Given the description of an element on the screen output the (x, y) to click on. 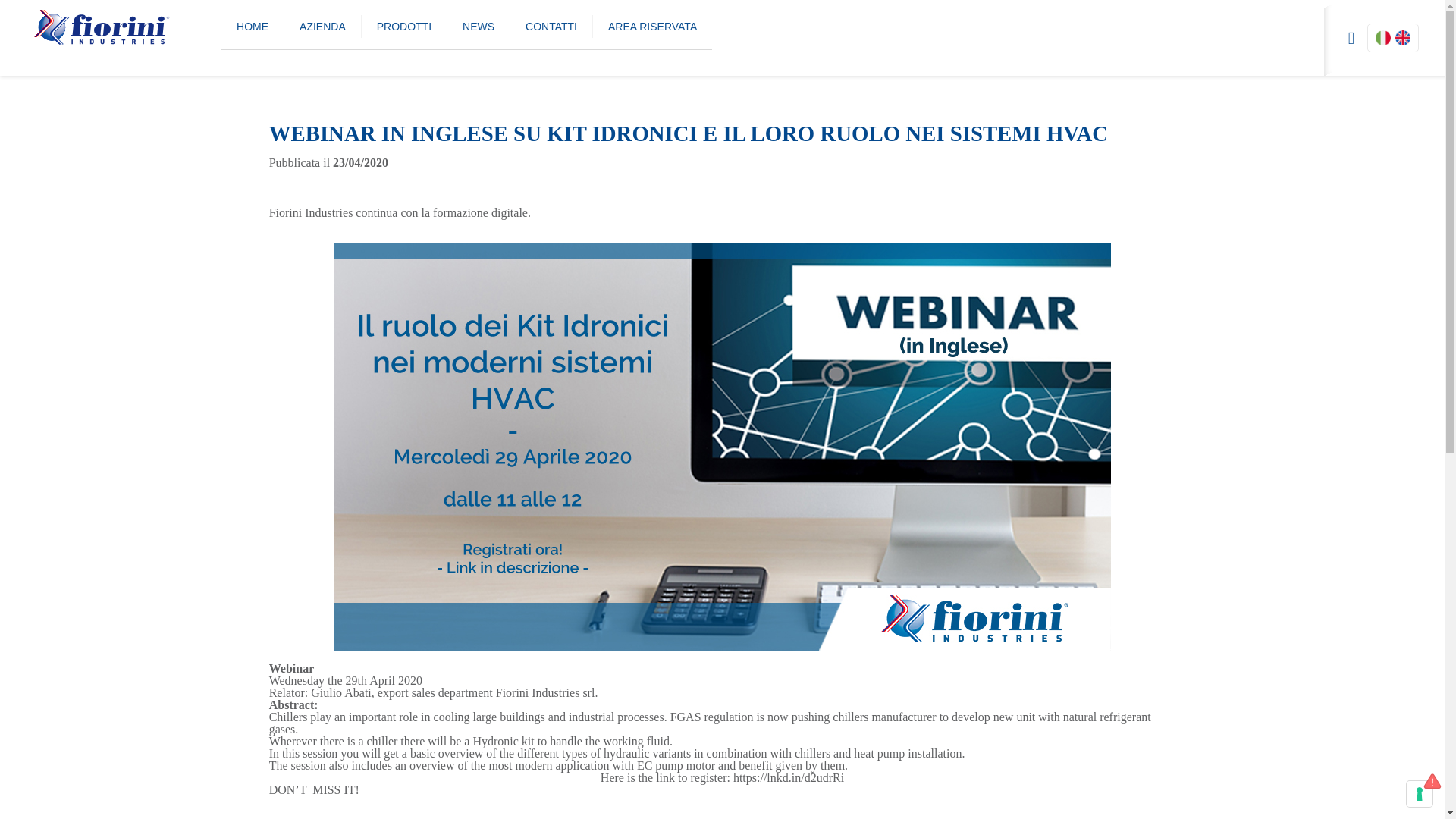
NEWS (478, 26)
AREA RISERVATA (651, 26)
PRODOTTI (403, 26)
Fiorini Industries (115, 26)
HOME (252, 26)
CONTATTI (551, 26)
AZIENDA (322, 26)
